Given the description of an element on the screen output the (x, y) to click on. 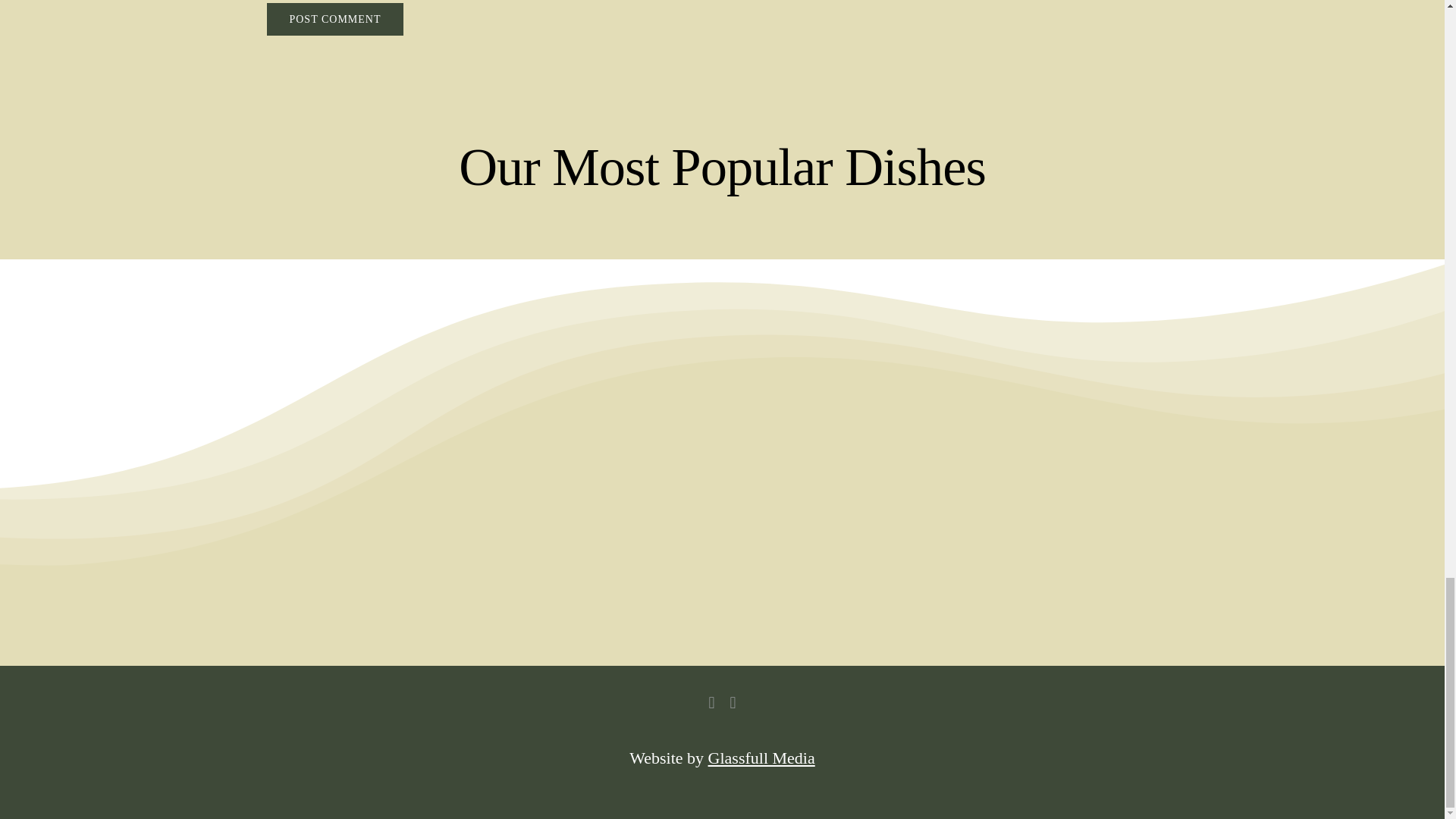
Glassfull Media (761, 757)
Post Comment (334, 19)
Post Comment (334, 19)
